Given the description of an element on the screen output the (x, y) to click on. 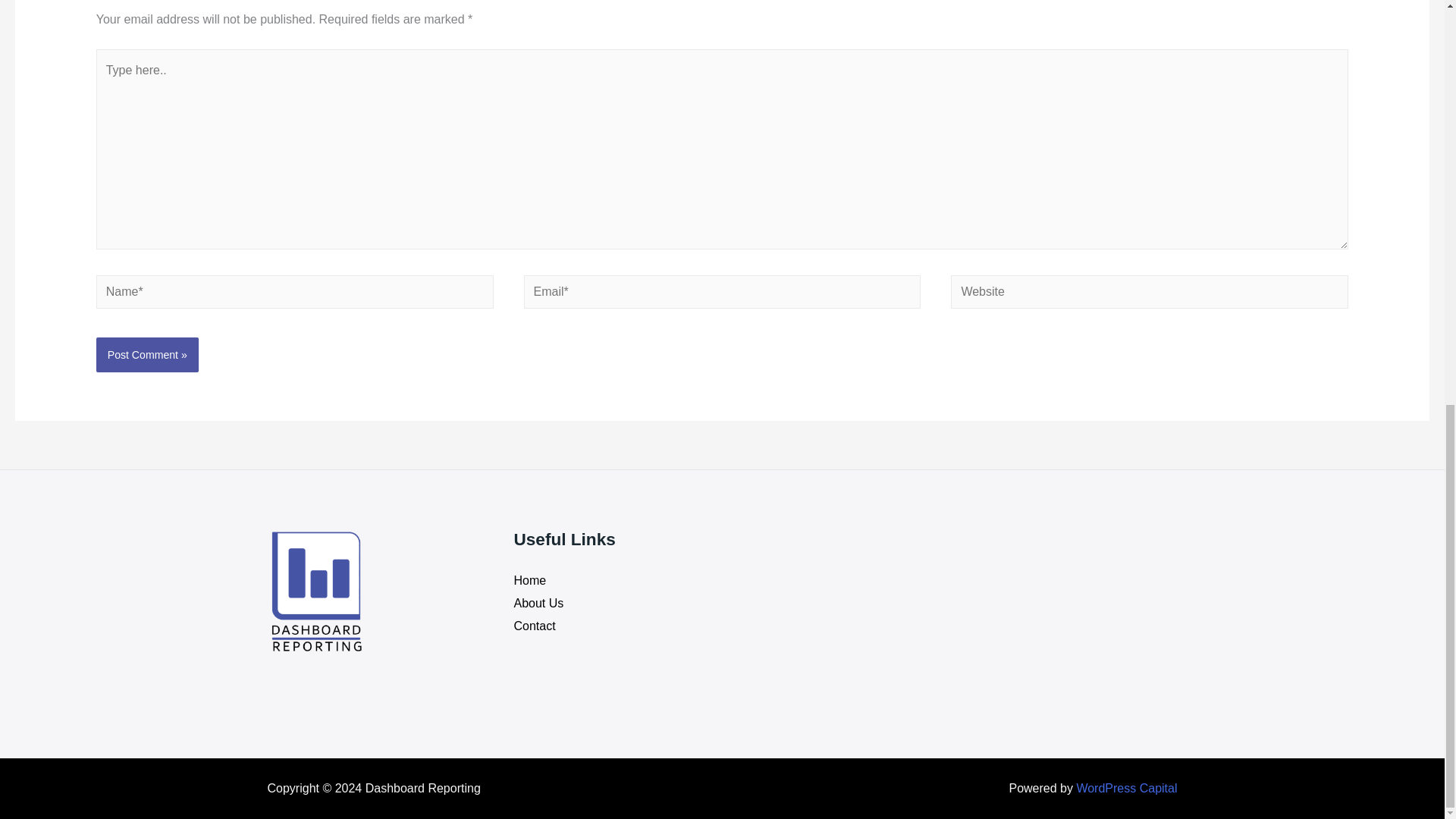
About Us (538, 603)
Home (530, 580)
WordPress Capital (1125, 788)
Contact (534, 625)
